Given the description of an element on the screen output the (x, y) to click on. 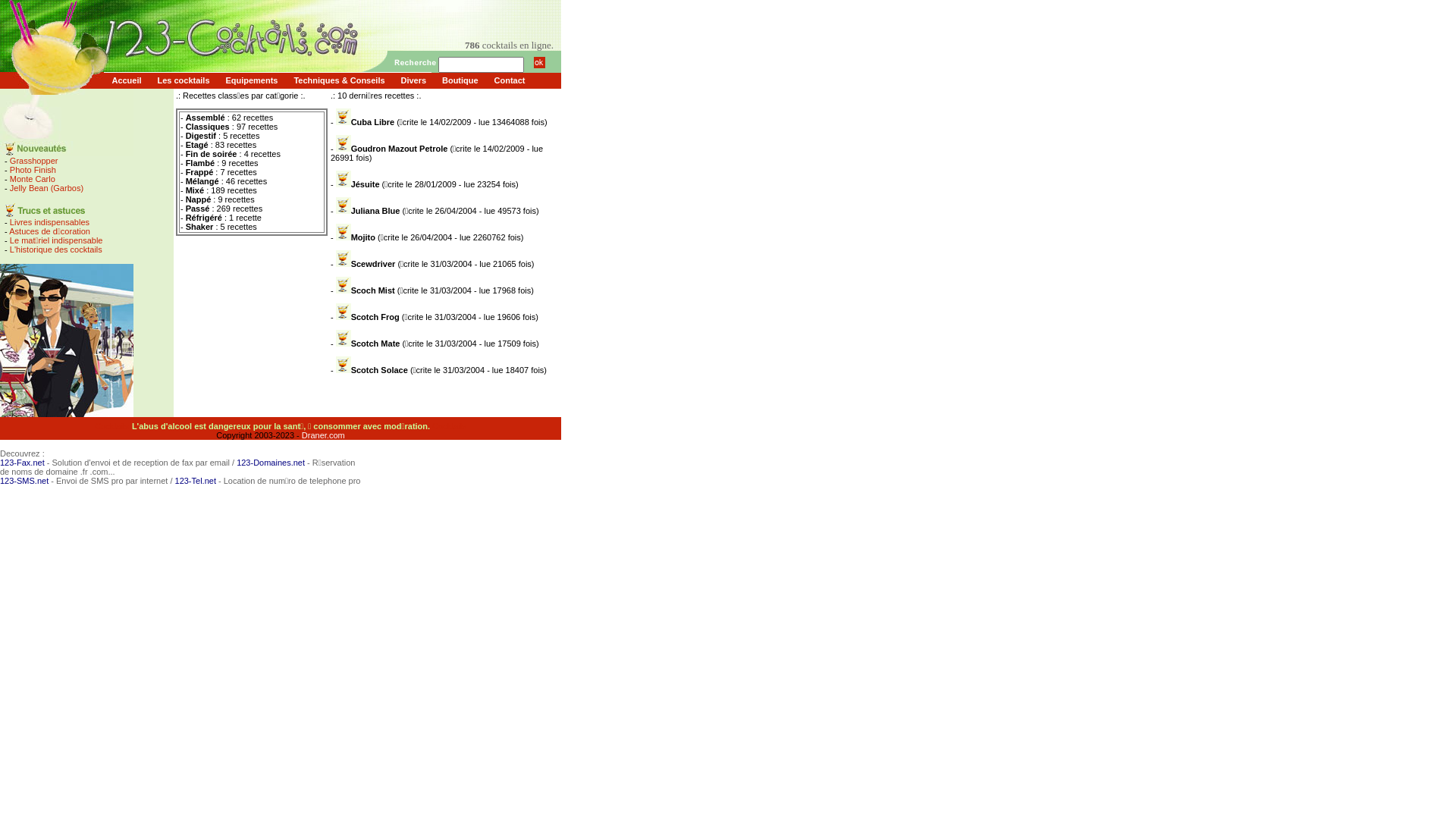
Grasshopper Element type: text (33, 160)
Contact Element type: text (509, 80)
Scotch Frog Element type: text (375, 316)
Photo Finish Element type: text (32, 169)
Cuba Libre Element type: text (372, 121)
Boutique Element type: text (460, 80)
Shaker Element type: text (199, 226)
Mojito Element type: text (363, 236)
Equipements Element type: text (251, 80)
123-Domaines.net Element type: text (270, 462)
Draner.com Element type: text (323, 434)
123-Fax.net Element type: text (22, 462)
Classiques Element type: text (207, 126)
Digestif Element type: text (200, 135)
123-SMS.net Element type: text (24, 480)
Goudron Mazout Petrole Element type: text (399, 148)
Scewdriver Element type: text (373, 263)
Cocktails Element type: text (111, 425)
Cocktails Element type: text (449, 425)
Scotch Mate Element type: text (375, 343)
123-Tel.net Element type: text (195, 480)
Scotch Solace Element type: text (379, 369)
Monte Carlo Element type: text (32, 178)
Divers Element type: text (413, 80)
Techniques & Conseils Element type: text (338, 80)
Scoch Mist Element type: text (373, 289)
Juliana Blue Element type: text (375, 210)
Les cocktails Element type: text (183, 80)
Livres indispensables Element type: text (49, 221)
Accueil Element type: text (126, 80)
Jelly Bean (Garbos) Element type: text (46, 187)
L'historique des cocktails Element type: text (55, 249)
